Given the description of an element on the screen output the (x, y) to click on. 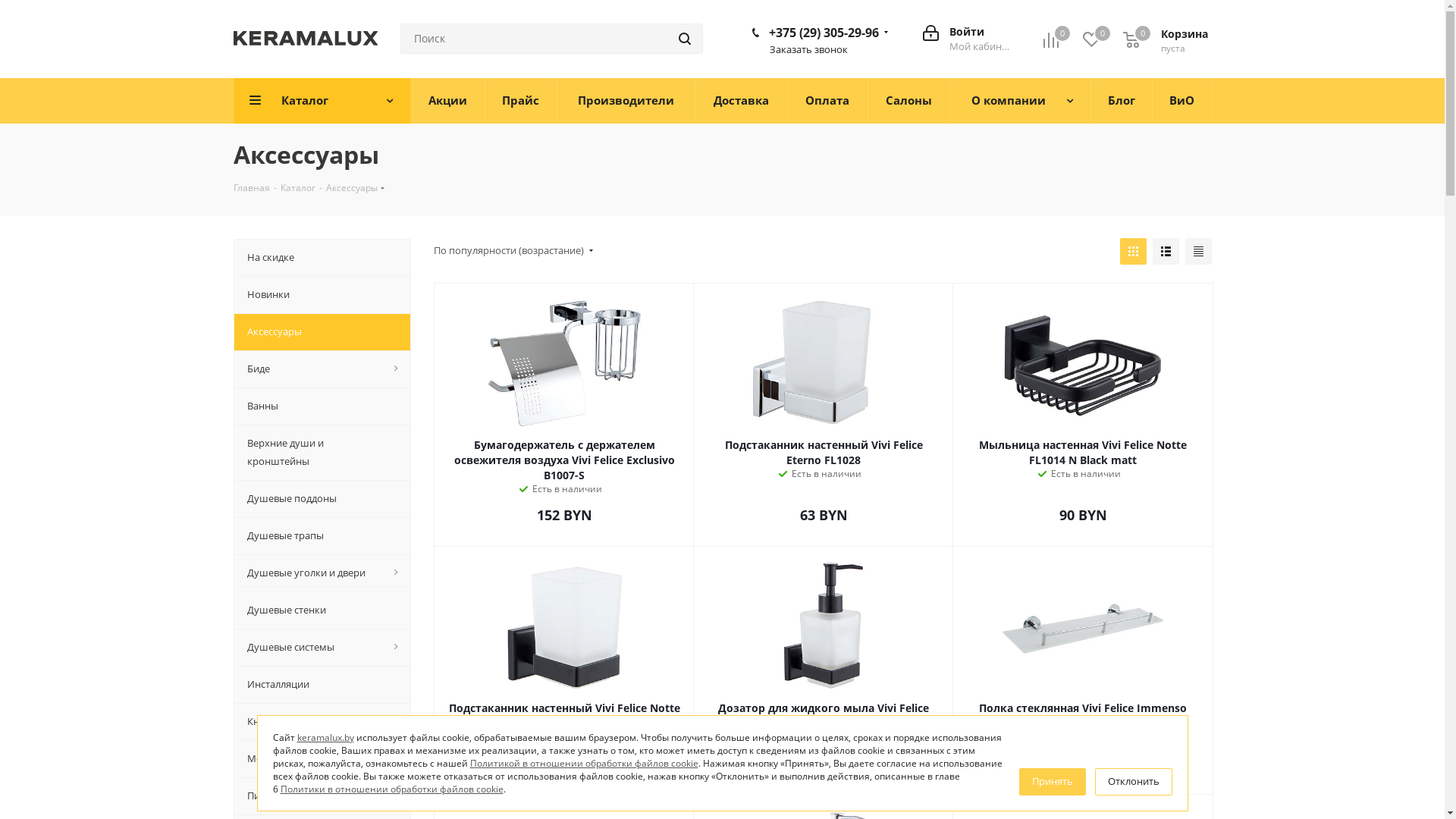
Y Element type: text (4, 4)
Keramalux Element type: hover (305, 38)
keramalux.by Element type: text (325, 737)
+375 (29) 305-29-96 Element type: text (823, 32)
